Given the description of an element on the screen output the (x, y) to click on. 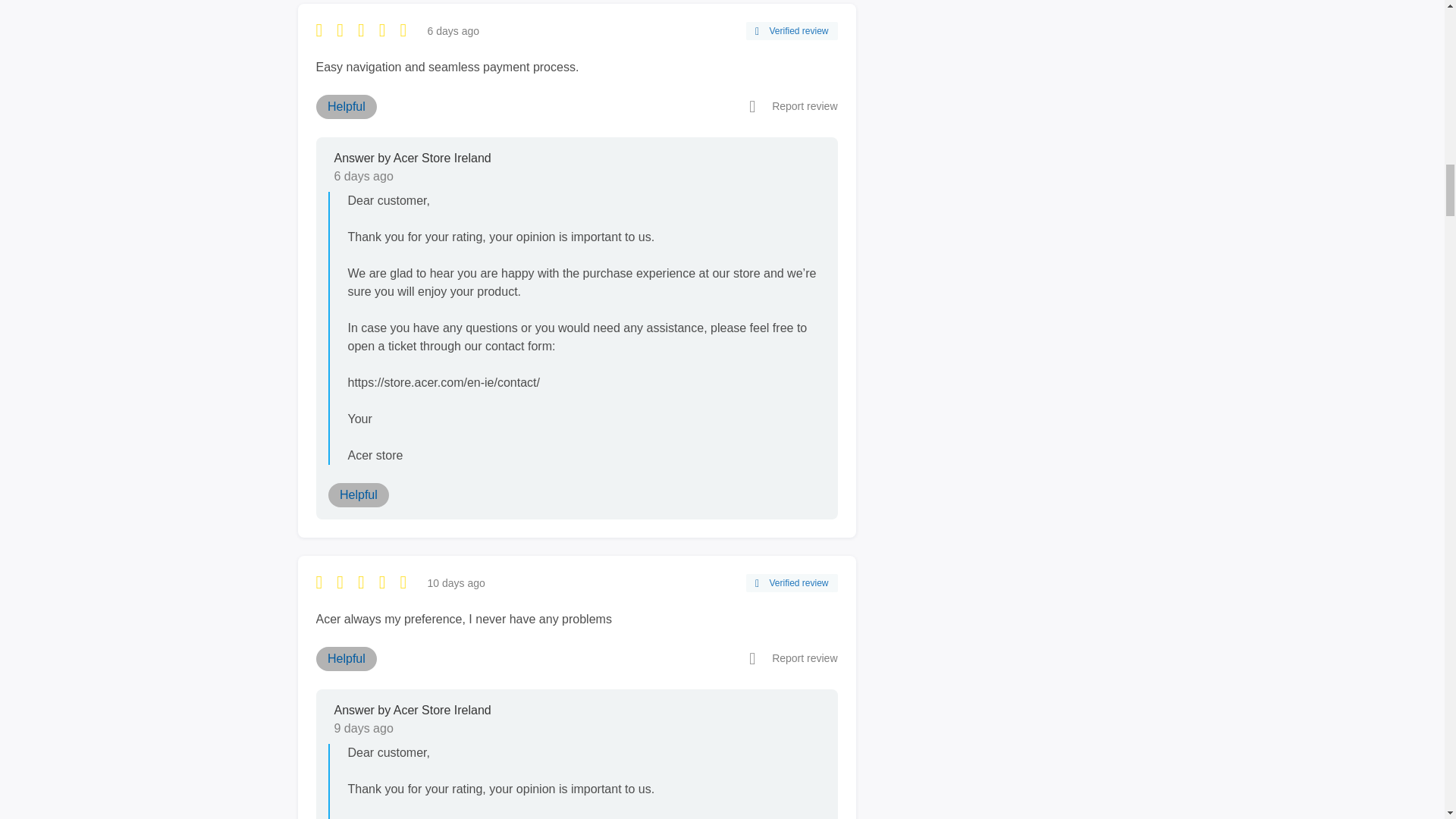
Helpful (346, 106)
Helpful (357, 494)
Helpful (346, 658)
